Given the description of an element on the screen output the (x, y) to click on. 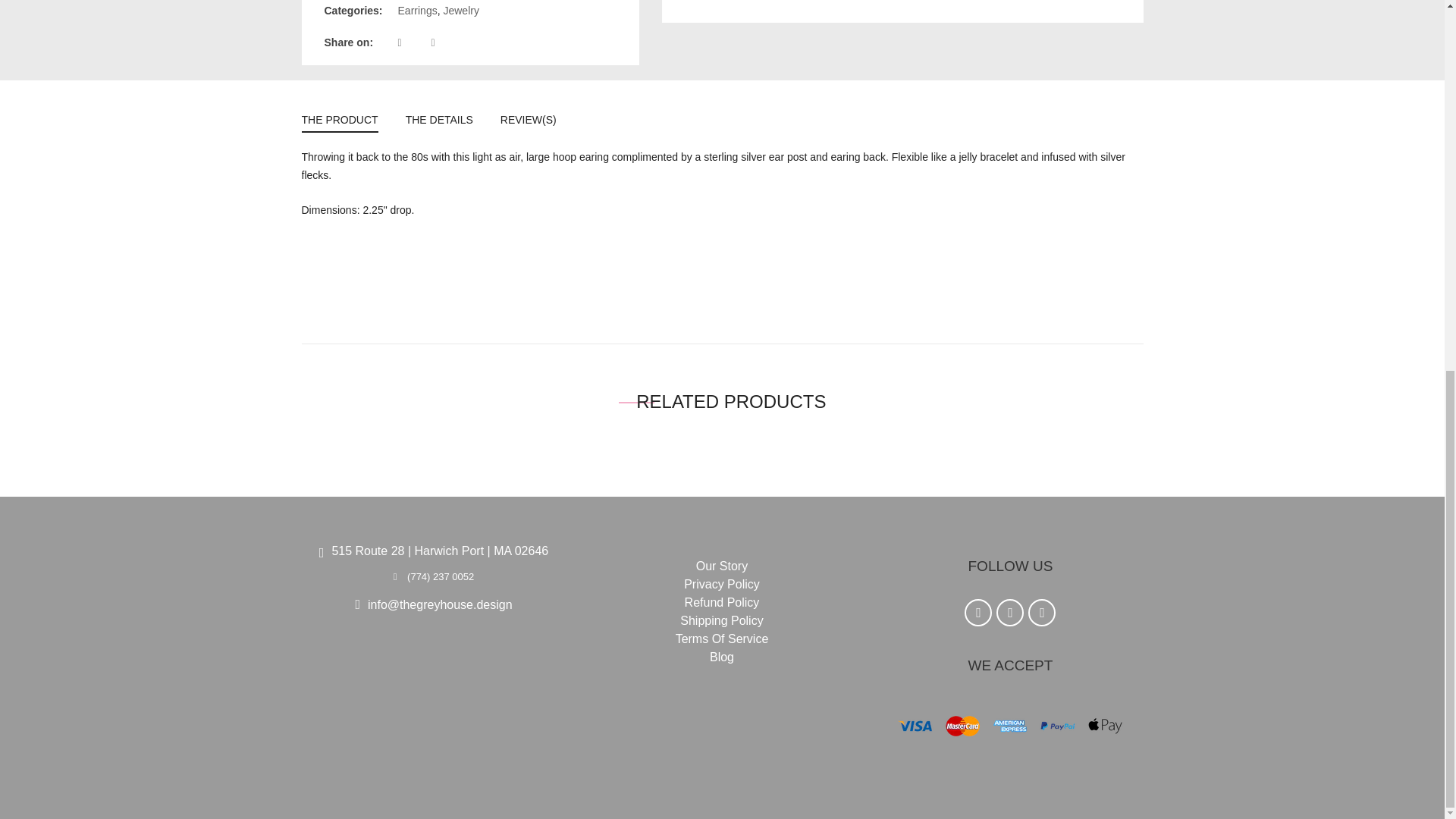
The Grey House on Pinterest (1009, 612)
The Grey House on Instagram (1041, 612)
The Grey House on Facebook (977, 612)
Share this post on Facebook (412, 42)
